Given the description of an element on the screen output the (x, y) to click on. 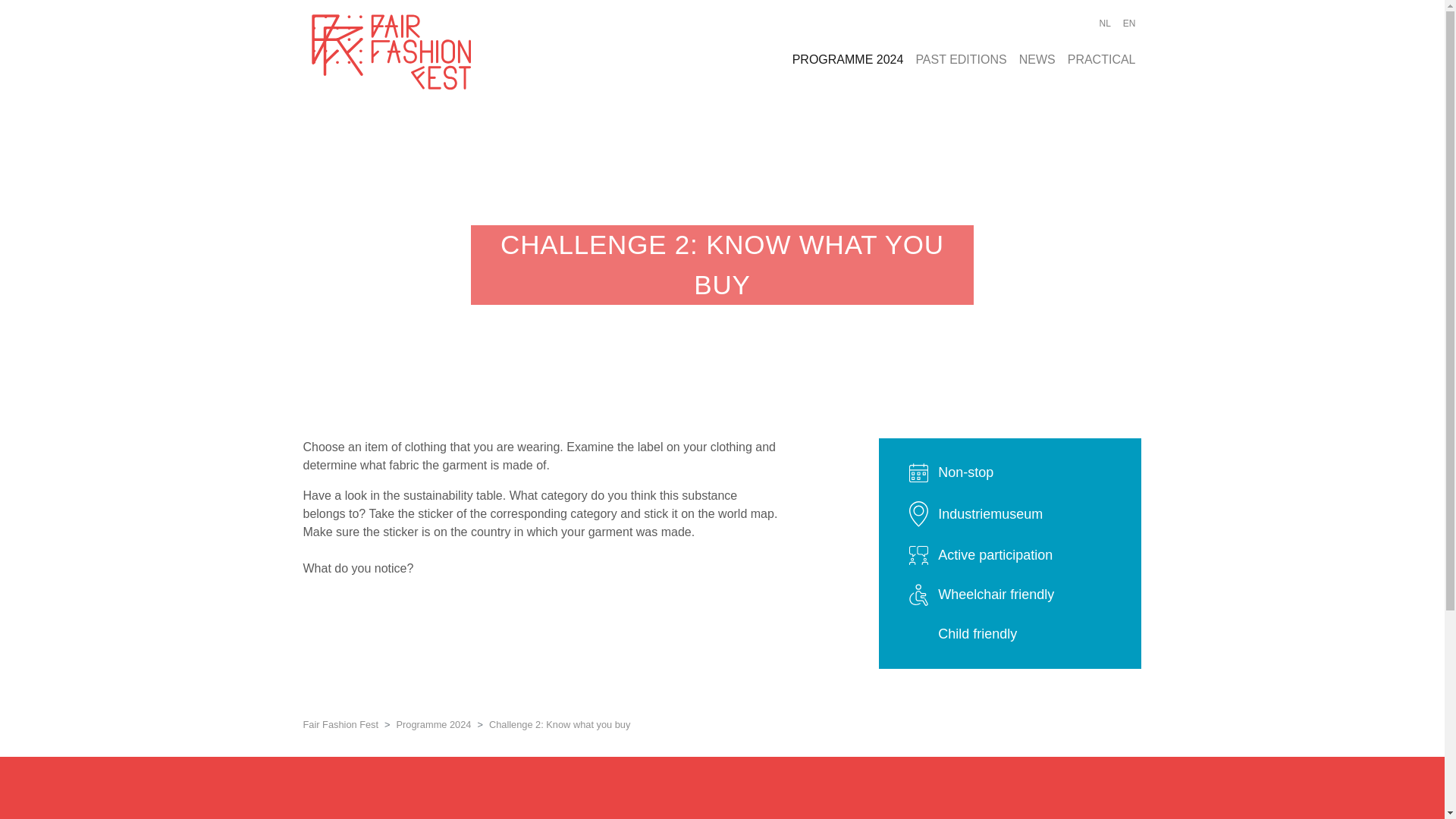
PROGRAMME 2024 (848, 60)
NEWS (1037, 60)
Programme 2024 (433, 724)
EN (1128, 23)
PRACTICAL (1101, 60)
PAST EDITIONS (959, 60)
Fair Fashion Fest (340, 724)
NL (1104, 23)
